Given the description of an element on the screen output the (x, y) to click on. 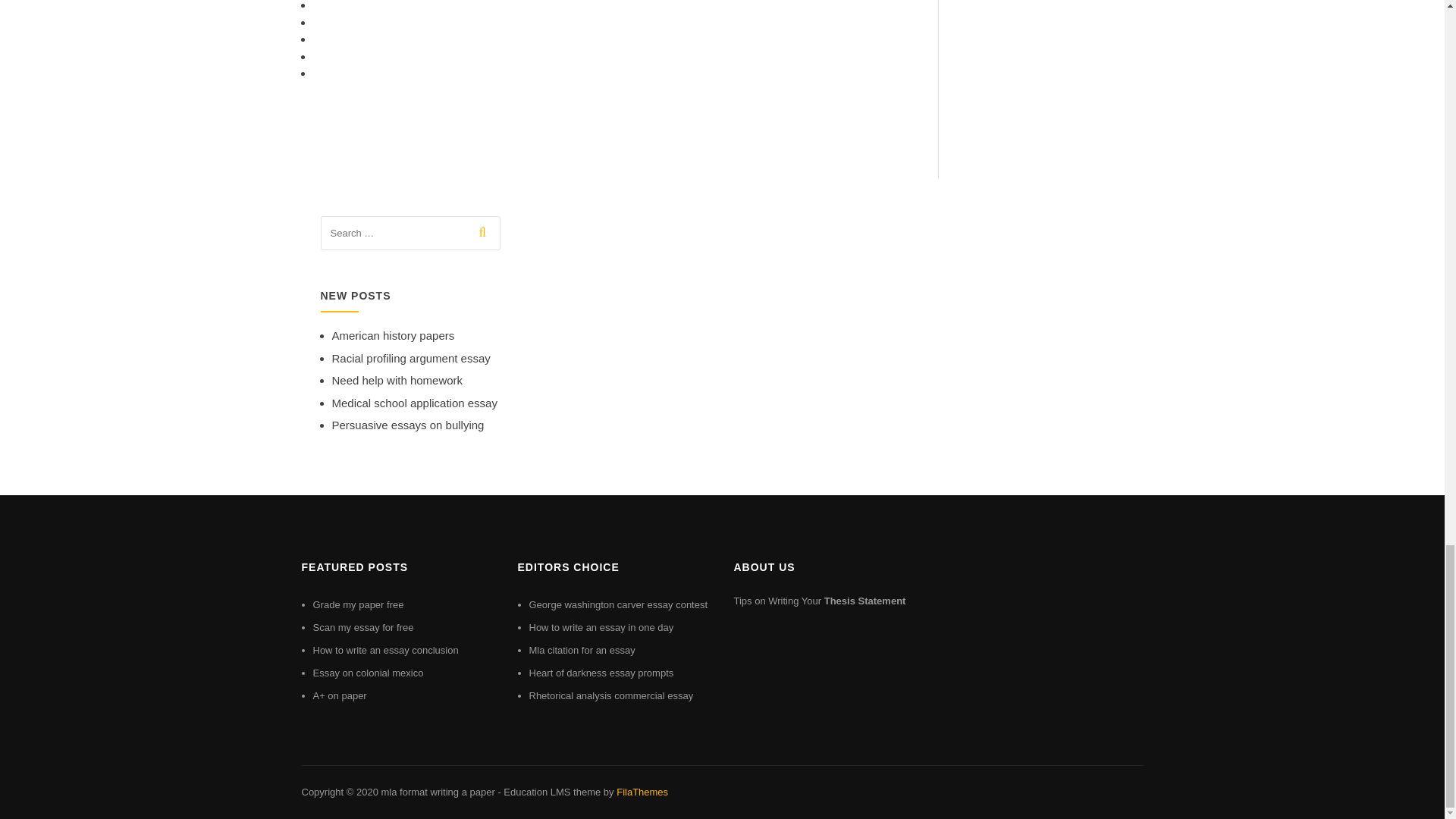
Heart of darkness essay prompts (601, 672)
How to write an essay in one day (601, 627)
How to write an essay conclusion (385, 650)
Mla citation for an essay (581, 650)
mla format writing a paper (437, 791)
Need help with homework (397, 379)
Persuasive essays on bullying (407, 424)
Racial profiling argument essay (410, 358)
Grade my paper free (358, 604)
American history papers (392, 335)
Rhetorical analysis commercial essay (611, 695)
mla format writing a paper (437, 791)
George washington carver essay contest (618, 604)
Essay on colonial mexico (368, 672)
Medical school application essay (414, 402)
